Given the description of an element on the screen output the (x, y) to click on. 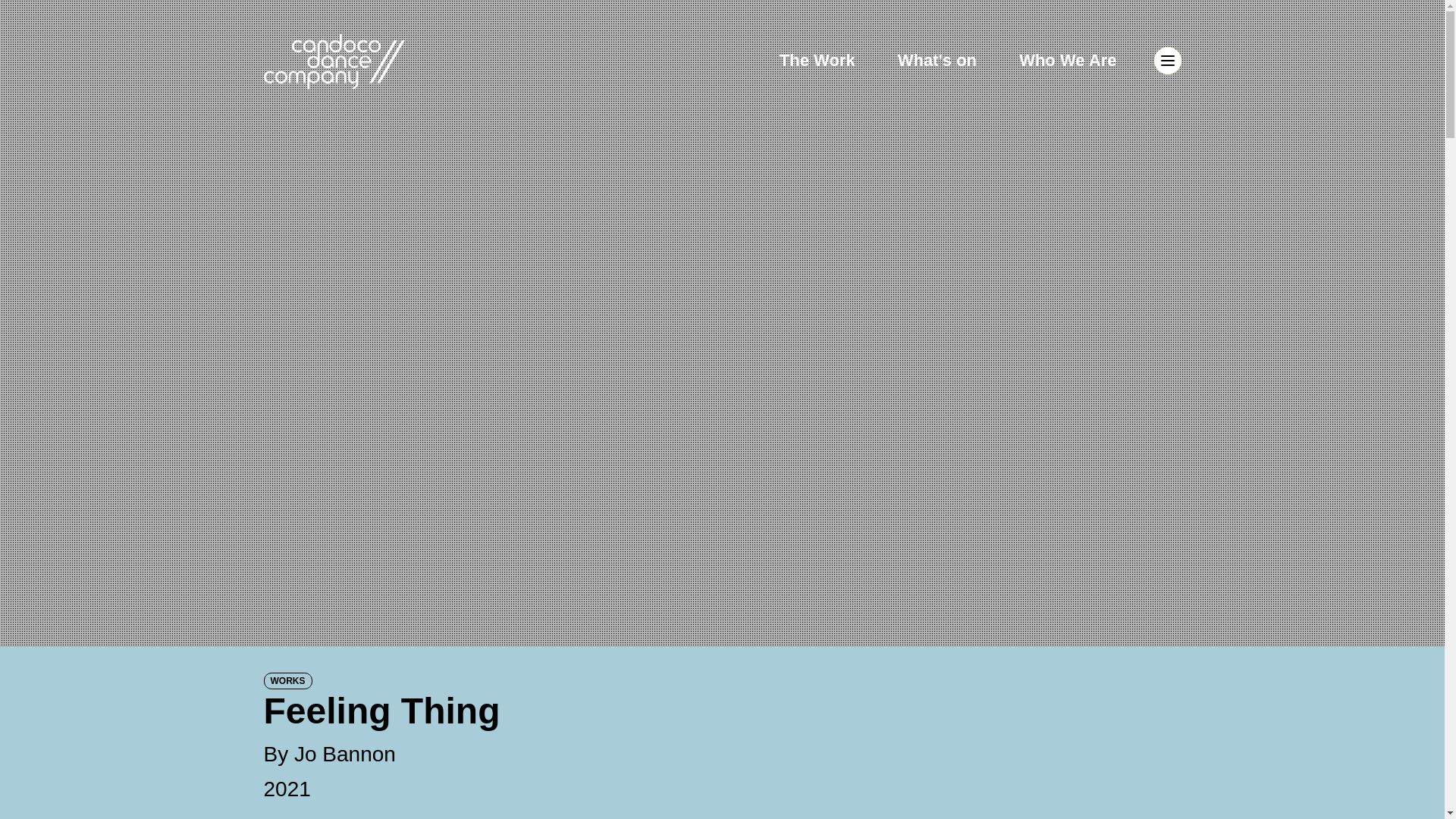
The Work (819, 58)
Candoco (333, 61)
What's on (939, 58)
Who We Are (1067, 58)
Candoco (333, 60)
